Given the description of an element on the screen output the (x, y) to click on. 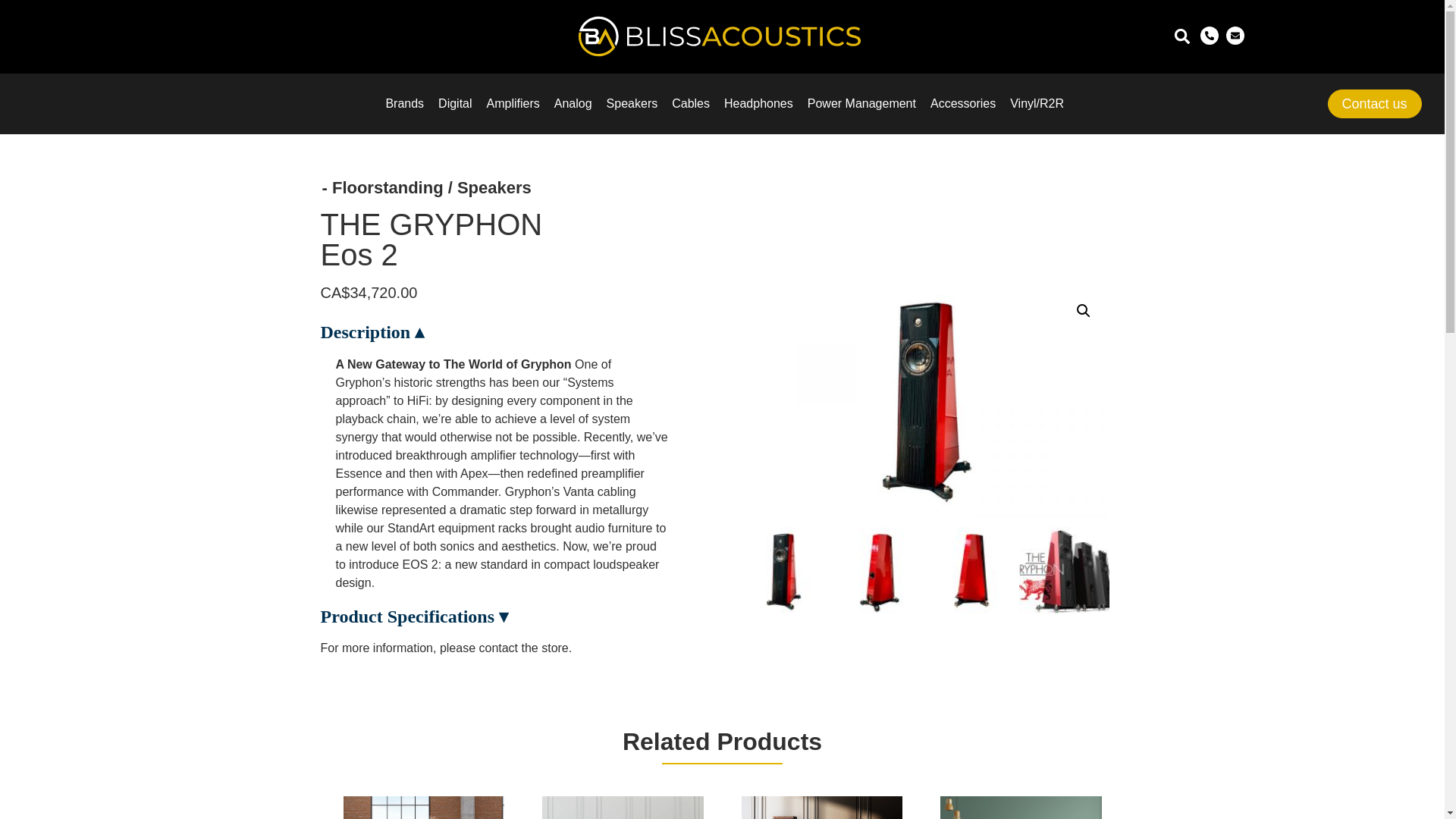
Speakers (632, 103)
Brands (404, 103)
Cables (690, 103)
Analog (573, 103)
eo2-2-1 (922, 400)
Amplifiers (513, 103)
Digital (454, 103)
